Given the description of an element on the screen output the (x, y) to click on. 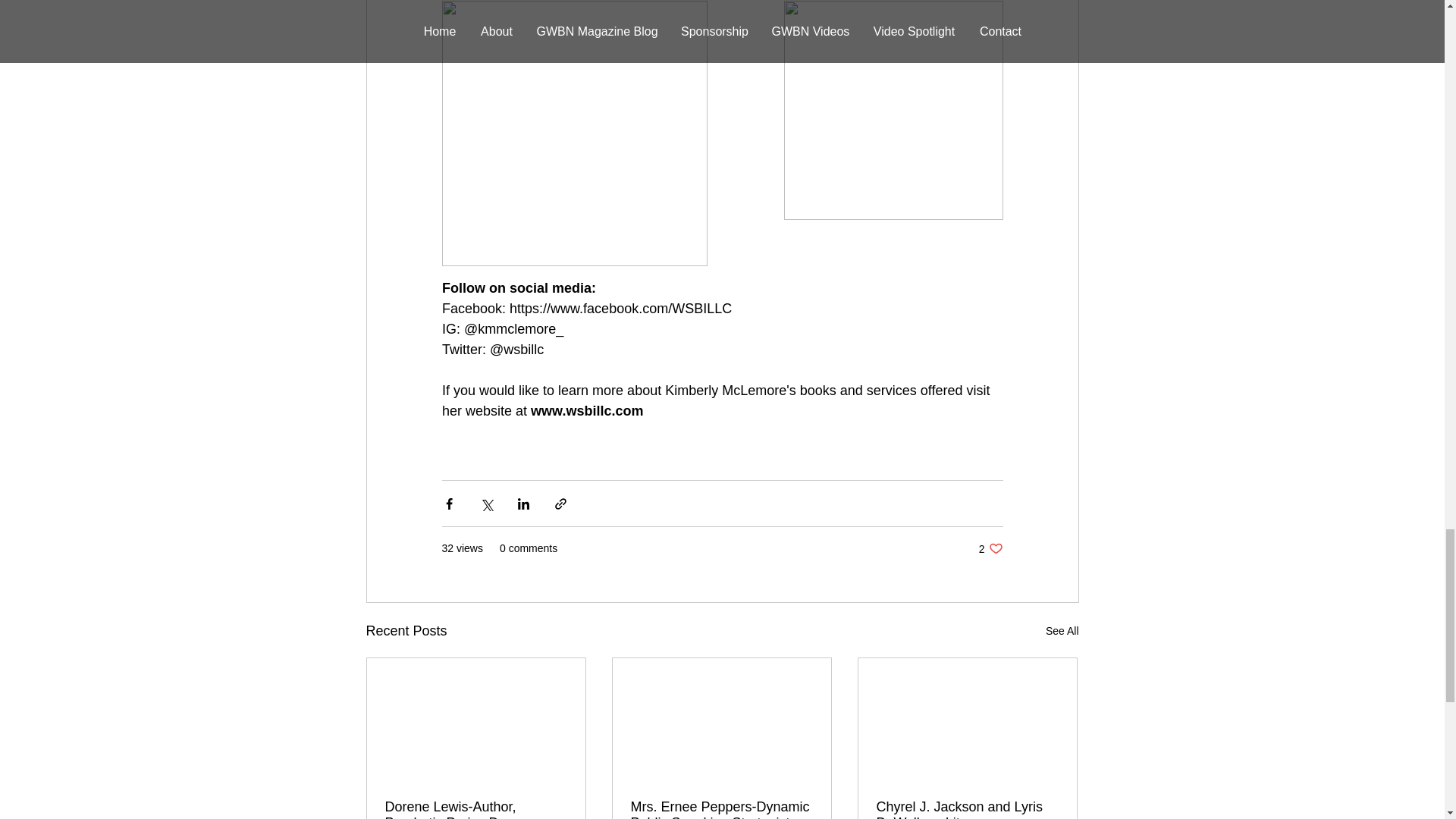
See All (990, 548)
Dorene Lewis-Author, Prophetic Praise Dancer, and Speaker (1061, 630)
